Given the description of an element on the screen output the (x, y) to click on. 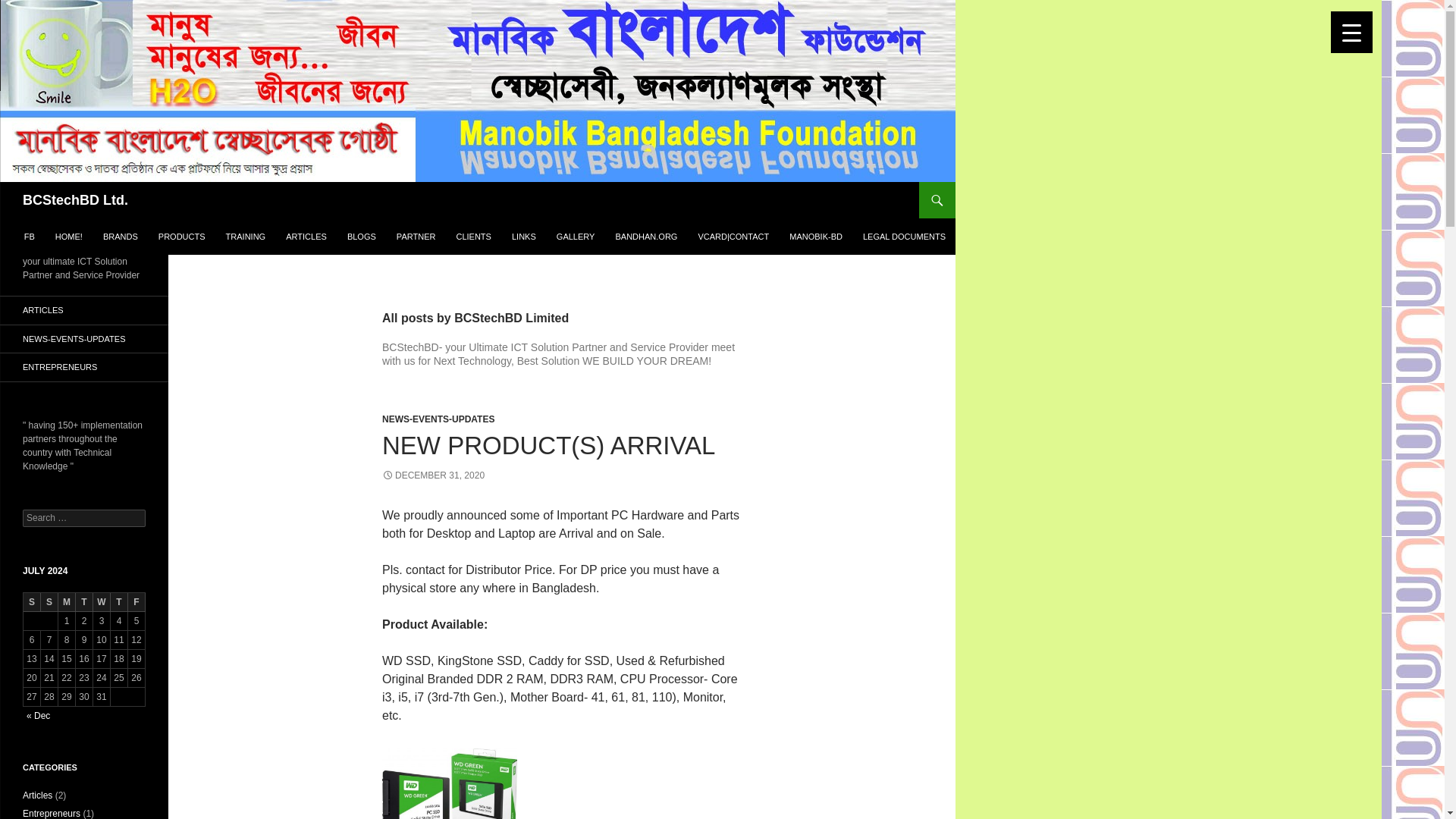
DECEMBER 31, 2020 (432, 475)
MANOBIK-BD (815, 236)
BANDHAN.ORG (645, 236)
NEWS-EVENTS-UPDATES (438, 419)
BRANDS (120, 236)
Tuesday (84, 601)
Thursday (119, 601)
Friday (136, 601)
Articles (45, 15)
TRAINING (245, 236)
Saturday (31, 601)
LINKS (523, 236)
News-Events-Updates (45, 45)
BLOGS (361, 236)
